Given the description of an element on the screen output the (x, y) to click on. 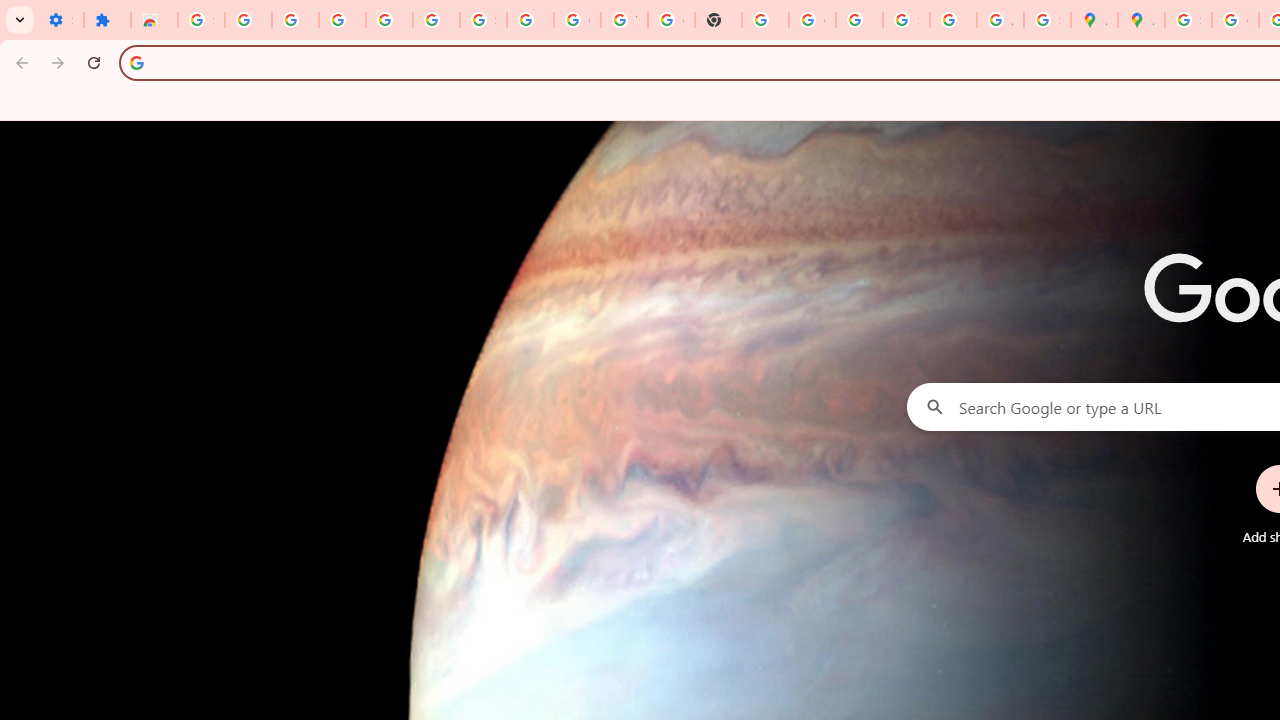
Delete photos & videos - Computer - Google Photos Help (342, 20)
Sign in - Google Accounts (201, 20)
Reviews: Helix Fruit Jump Arcade Game (153, 20)
https://scholar.google.com/ (765, 20)
New Tab (718, 20)
Learn how to find your photos - Google Photos Help (389, 20)
Safety in Our Products - Google Safety Center (1047, 20)
Search icon (136, 62)
YouTube (623, 20)
